Given the description of an element on the screen output the (x, y) to click on. 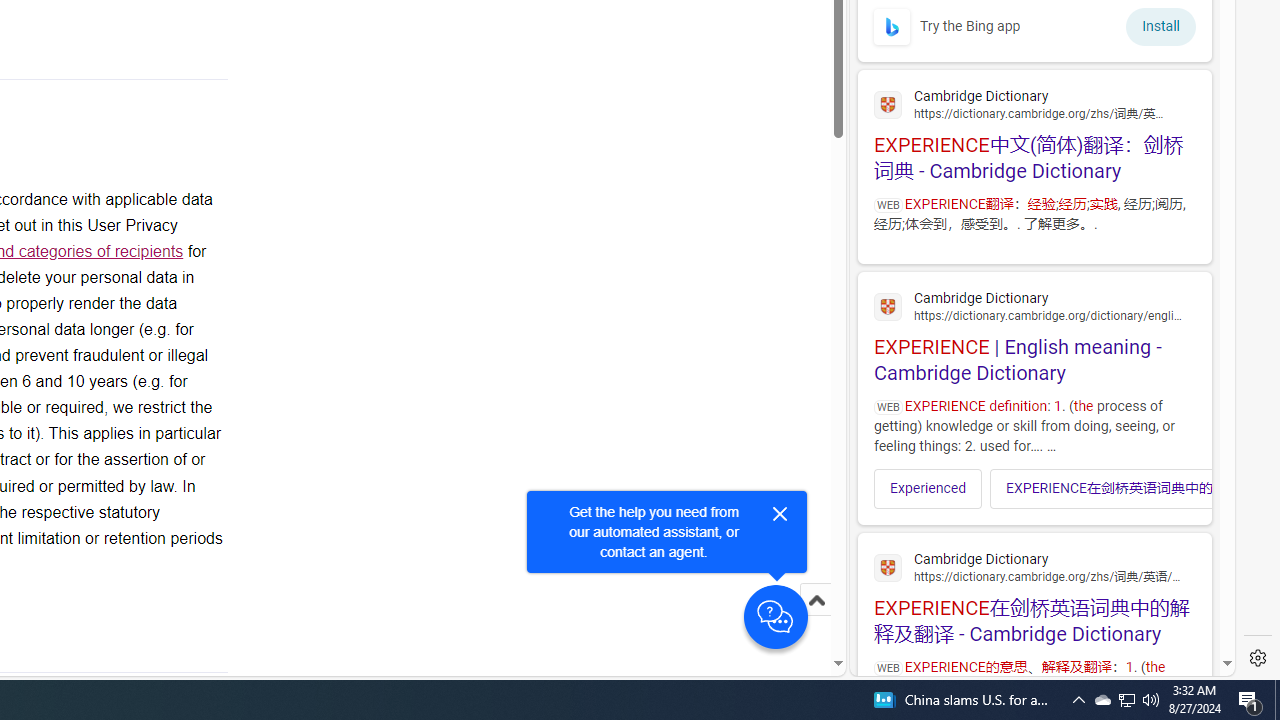
Scroll to top (816, 599)
Scroll to top (816, 620)
EXPERIENCE | English meaning - Cambridge Dictionary (1034, 334)
Cambridge Dictionary (1034, 565)
Click to scroll right (1183, 488)
